Given the description of an element on the screen output the (x, y) to click on. 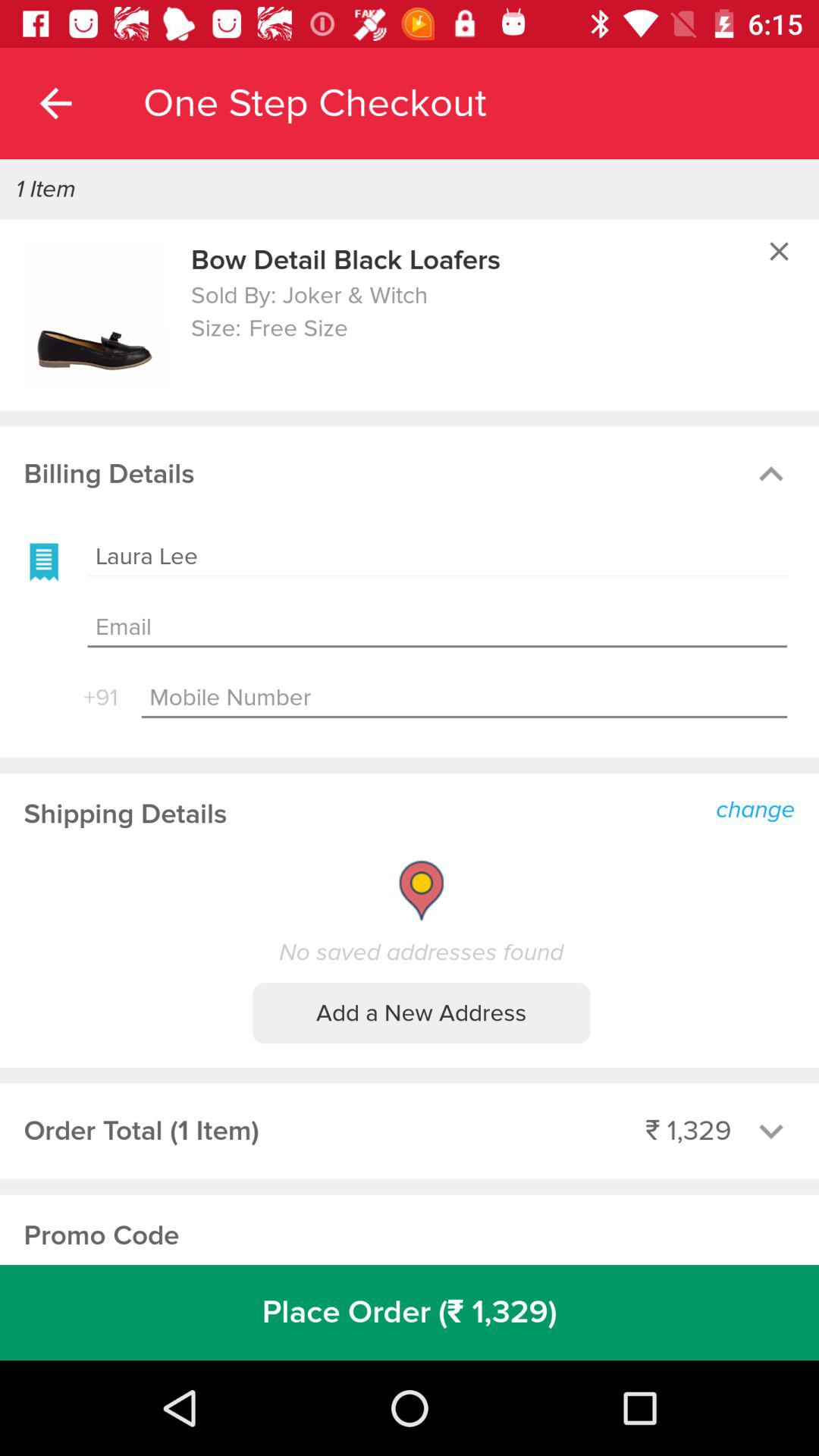
enter mobile number (464, 698)
